Given the description of an element on the screen output the (x, y) to click on. 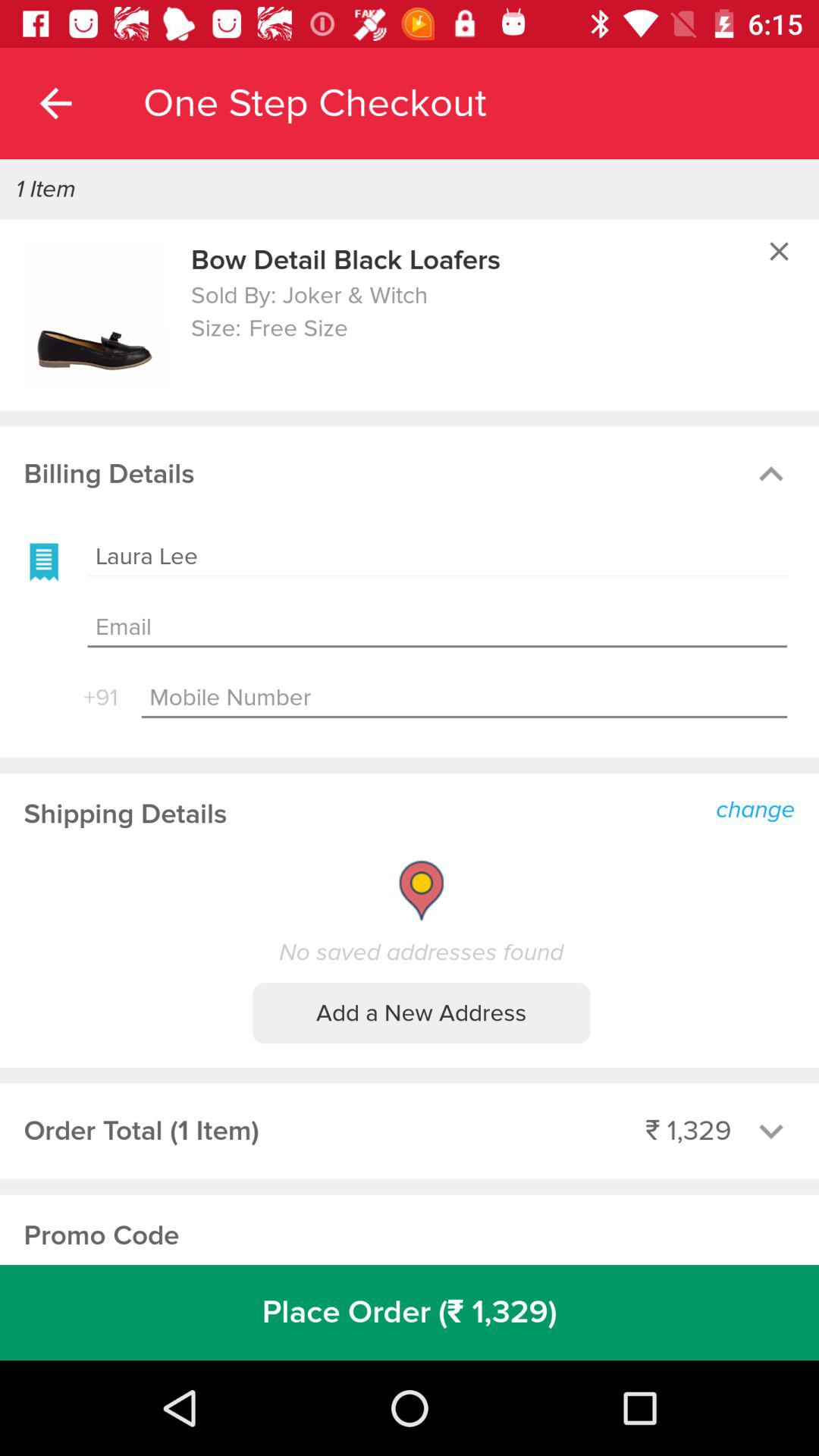
enter mobile number (464, 698)
